Given the description of an element on the screen output the (x, y) to click on. 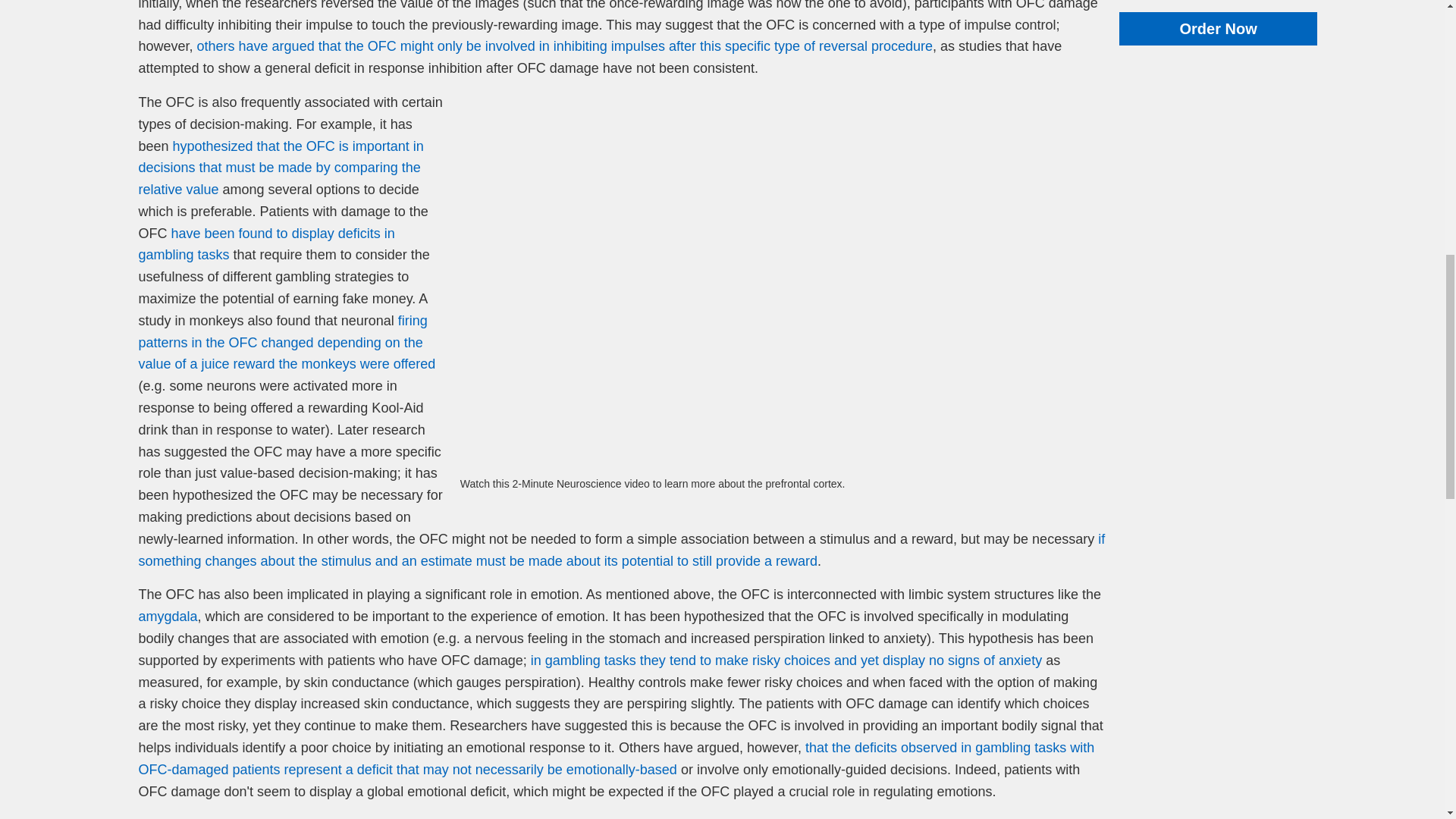
Order Now (1218, 28)
amygdala (167, 616)
have been found to display deficits in gambling tasks (266, 244)
